Given the description of an element on the screen output the (x, y) to click on. 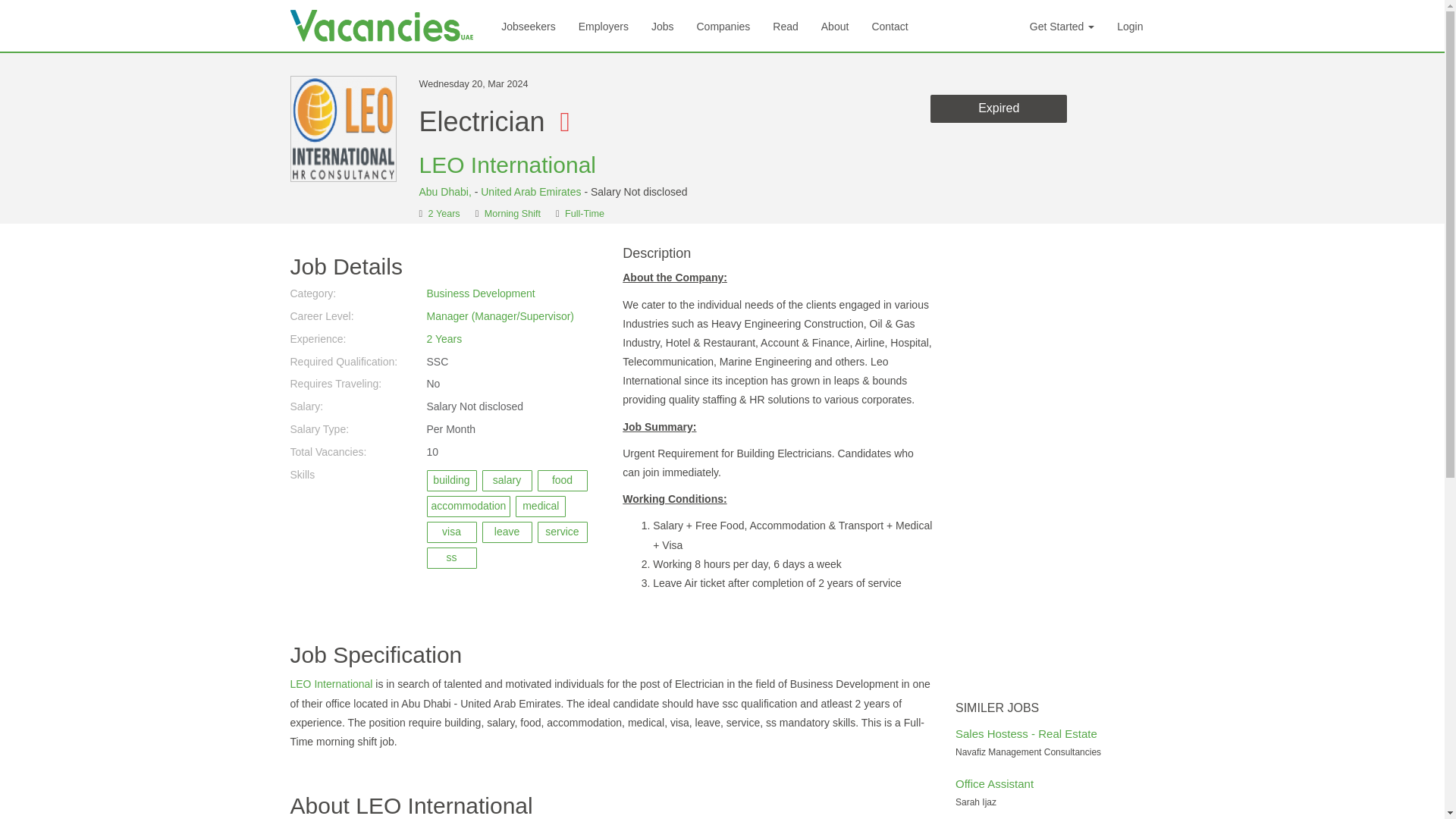
Sales Hostess - Real Estate (1026, 733)
Jobs (662, 26)
LEO International (507, 164)
2 Years (443, 338)
Expired (998, 108)
Full-Time (584, 213)
Morning Shift (512, 213)
Get Started (1061, 26)
United Arab Emirates (530, 191)
Companies (722, 26)
